Given the description of an element on the screen output the (x, y) to click on. 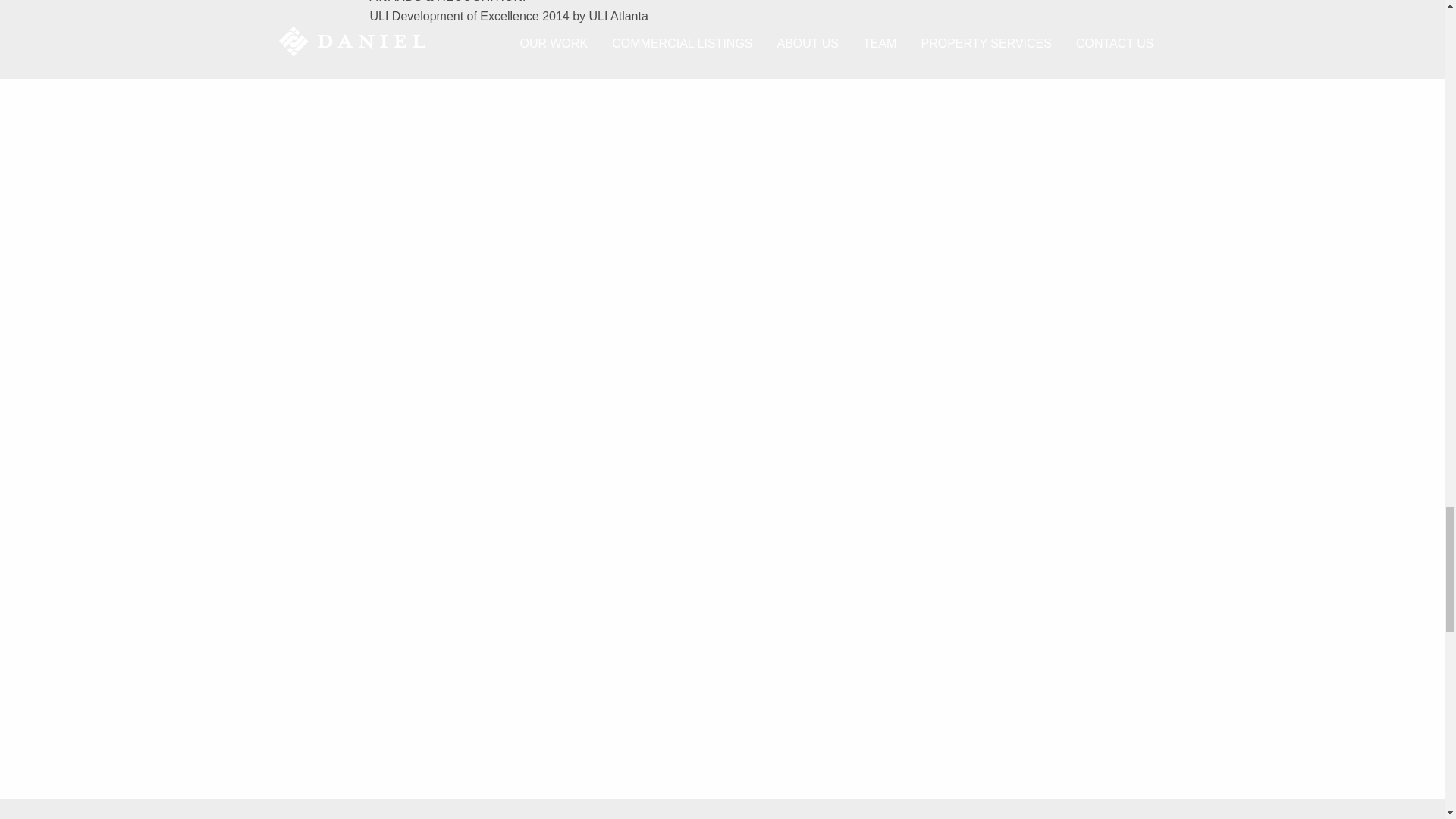
Daniel Corporation - 77 12th (949, 564)
Daniel Corporation - 77 12th (949, 260)
Daniel Corporation - 77 12th (495, 564)
Daniel Corporation - 77 12th (495, 260)
